Given the description of an element on the screen output the (x, y) to click on. 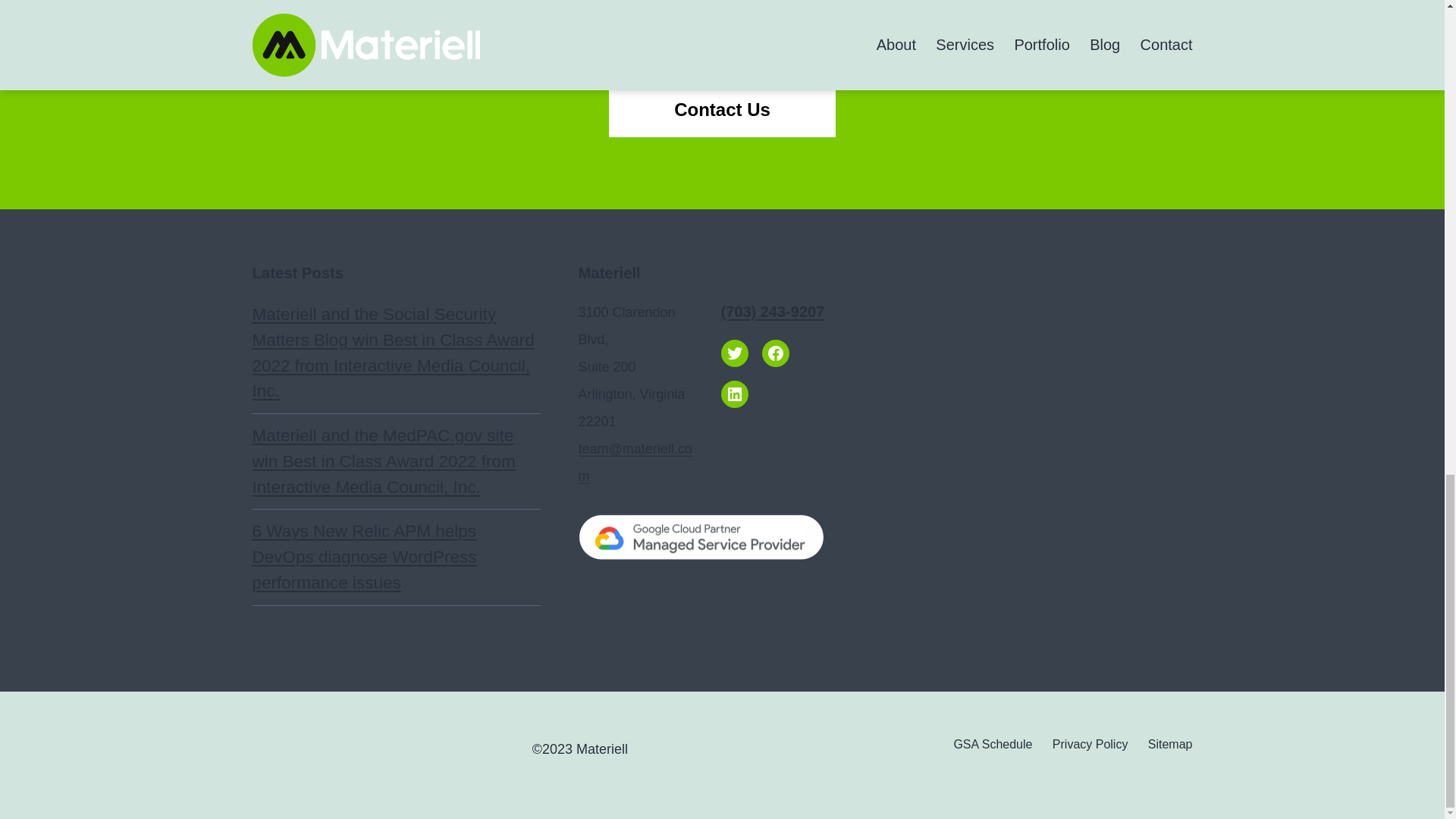
Sitemap (1170, 743)
LinkedIn (734, 393)
Facebook (775, 352)
Contact Us (721, 109)
Portfolio (721, 36)
GSA Schedule (992, 743)
Twitter (734, 352)
Privacy Policy (1090, 743)
